Given the description of an element on the screen output the (x, y) to click on. 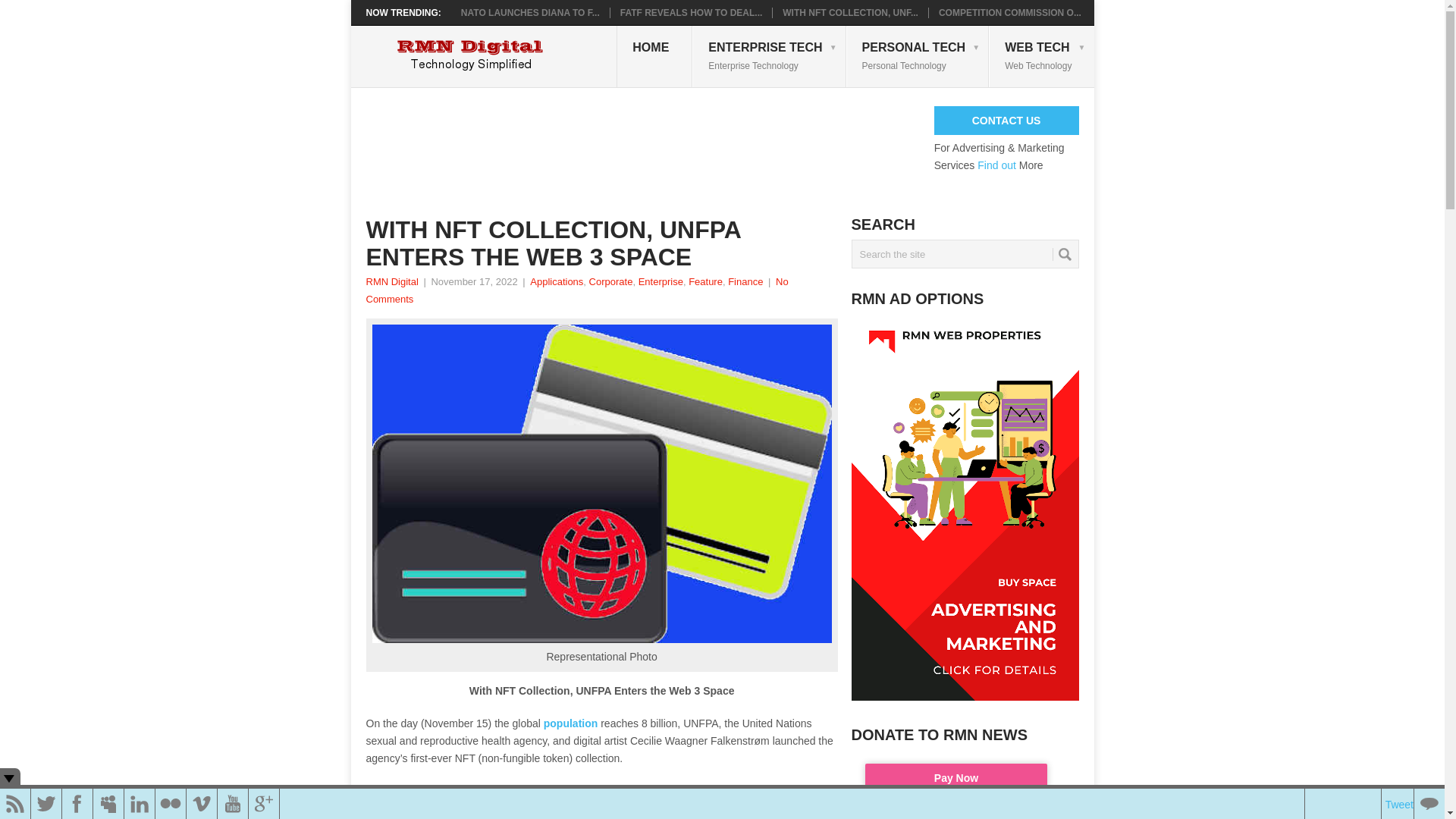
WITH NFT COLLECTION, UNF... (850, 12)
FATF REVEALS HOW TO DEAL... (691, 12)
Feature (705, 281)
Find out (994, 164)
No Comments (576, 290)
Applications (556, 281)
Enterprise (660, 281)
CONTACT US (1006, 120)
Search the site (964, 253)
Search (1064, 254)
RMN Digital (391, 281)
Competition Commission of India Imposes Penalty on Google (1010, 12)
Corporate (611, 281)
HOME (654, 56)
NATO LAUNCHES DIANA TO F... (530, 12)
